Given the description of an element on the screen output the (x, y) to click on. 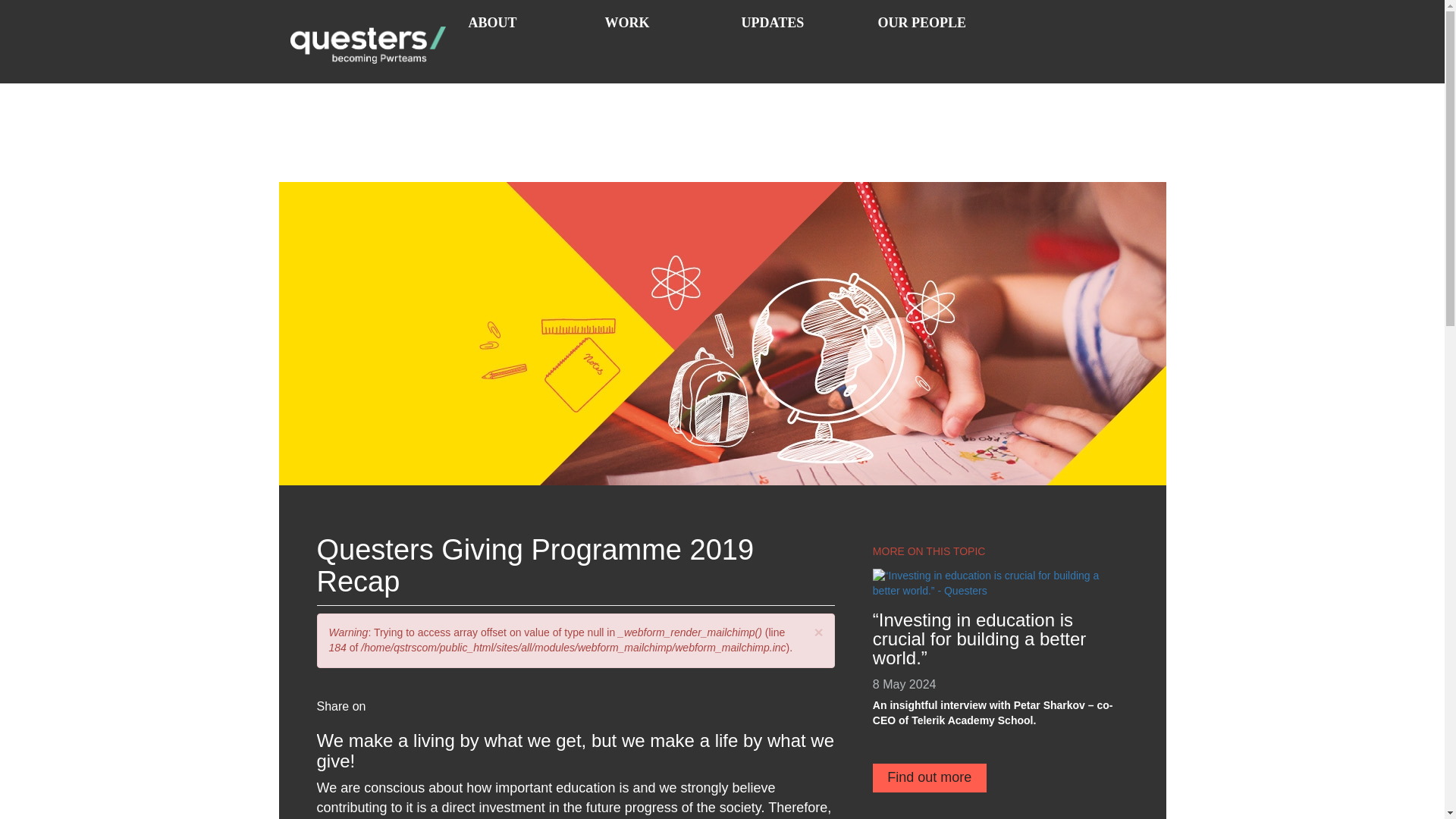
WORK (660, 35)
OUR PEOPLE (934, 35)
ABOUT (524, 35)
UPDATES (797, 35)
Home (373, 40)
Find out more (929, 777)
